Given the description of an element on the screen output the (x, y) to click on. 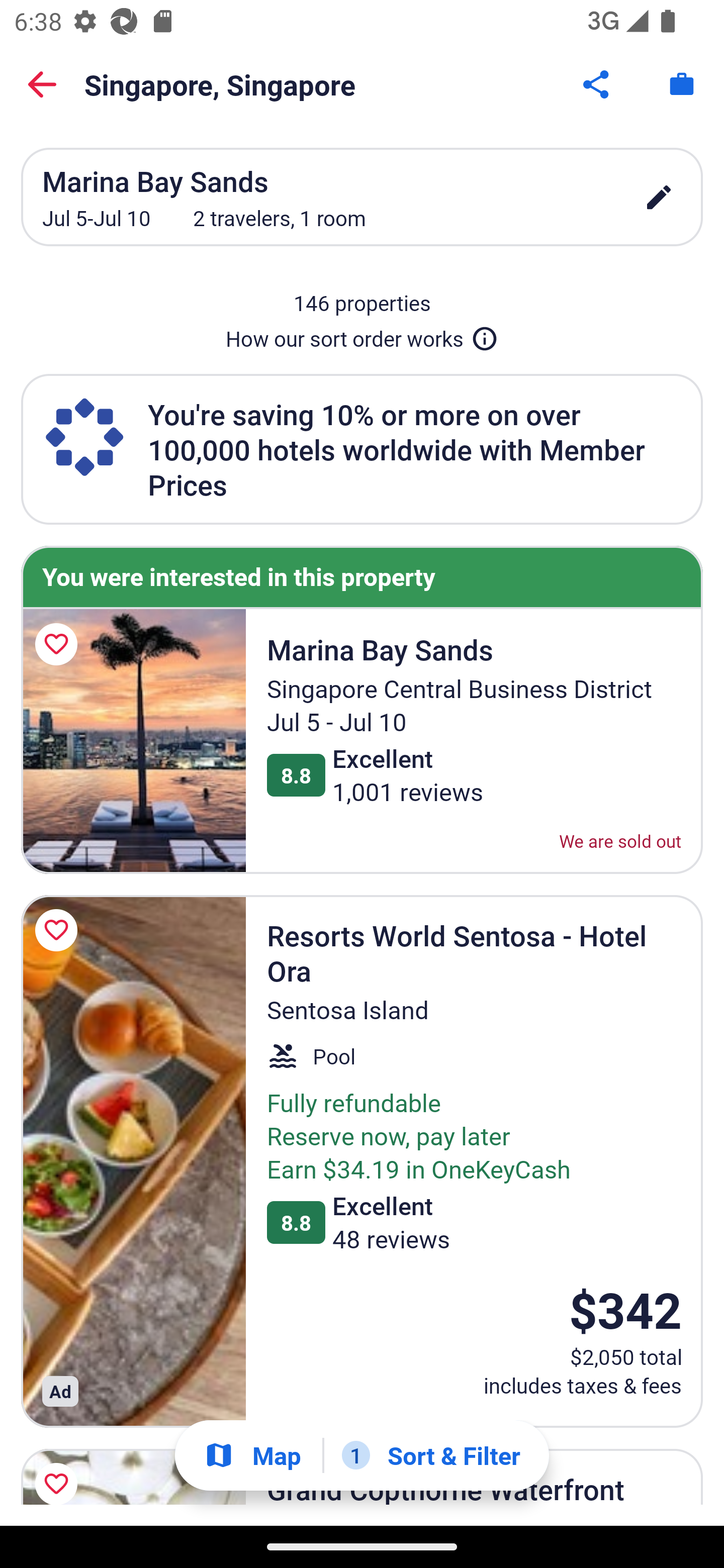
Back (42, 84)
Share Button (597, 84)
Trips. Button (681, 84)
How our sort order works (361, 334)
Save Marina Bay Sands to a trip (59, 644)
Marina Bay Sands (133, 740)
Save Resorts World Sentosa - Hotel Ora to a trip (59, 929)
Resorts World Sentosa - Hotel Ora (133, 1161)
Marina Bay Sands (128, 1342)
1 Sort & Filter 1 Filter applied. Filters Button (430, 1455)
Show map Map Show map Button (252, 1455)
Save Grand Copthorne Waterfront to a trip (59, 1473)
